Given the description of an element on the screen output the (x, y) to click on. 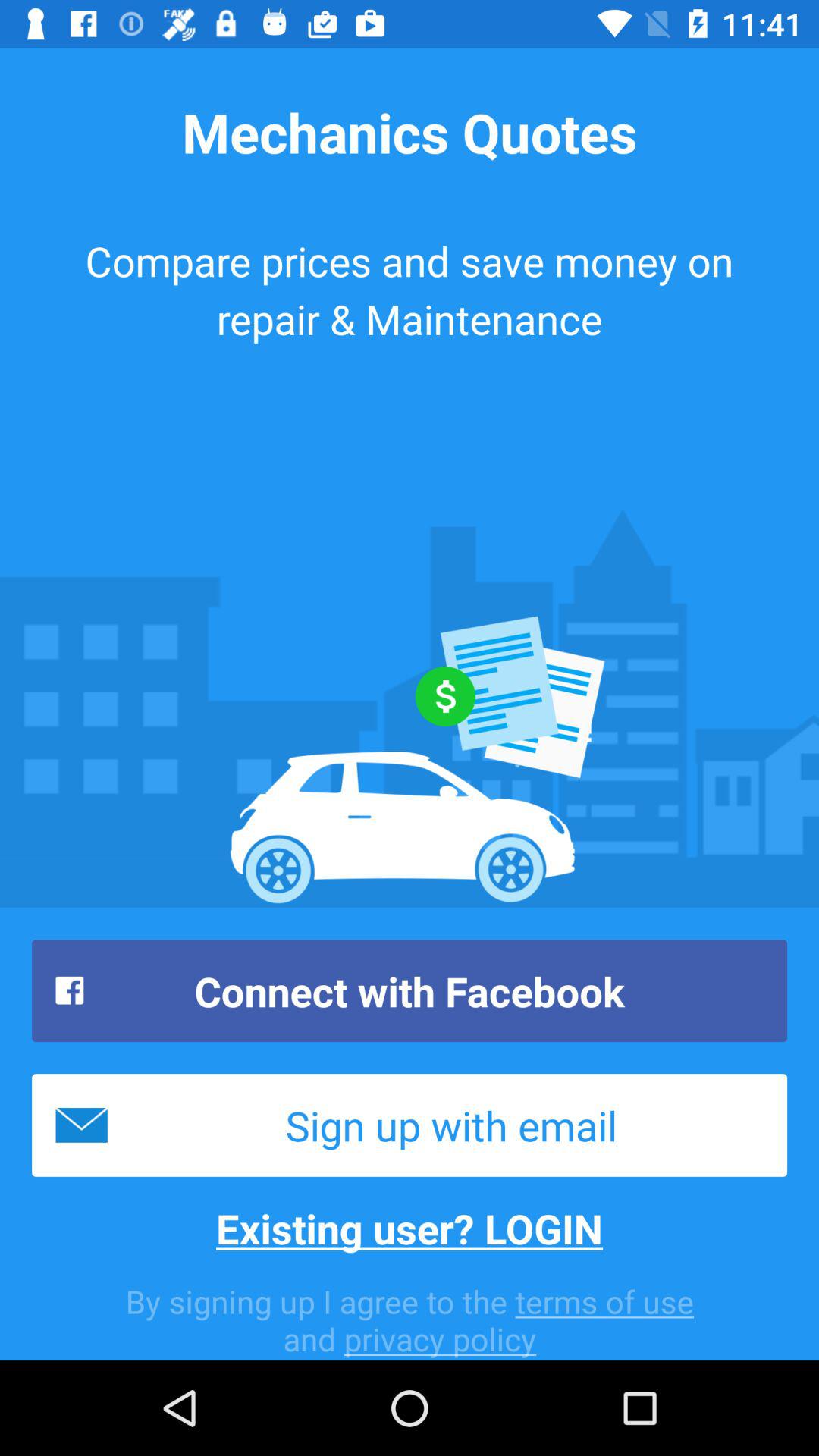
launch by signing up icon (409, 1319)
